Given the description of an element on the screen output the (x, y) to click on. 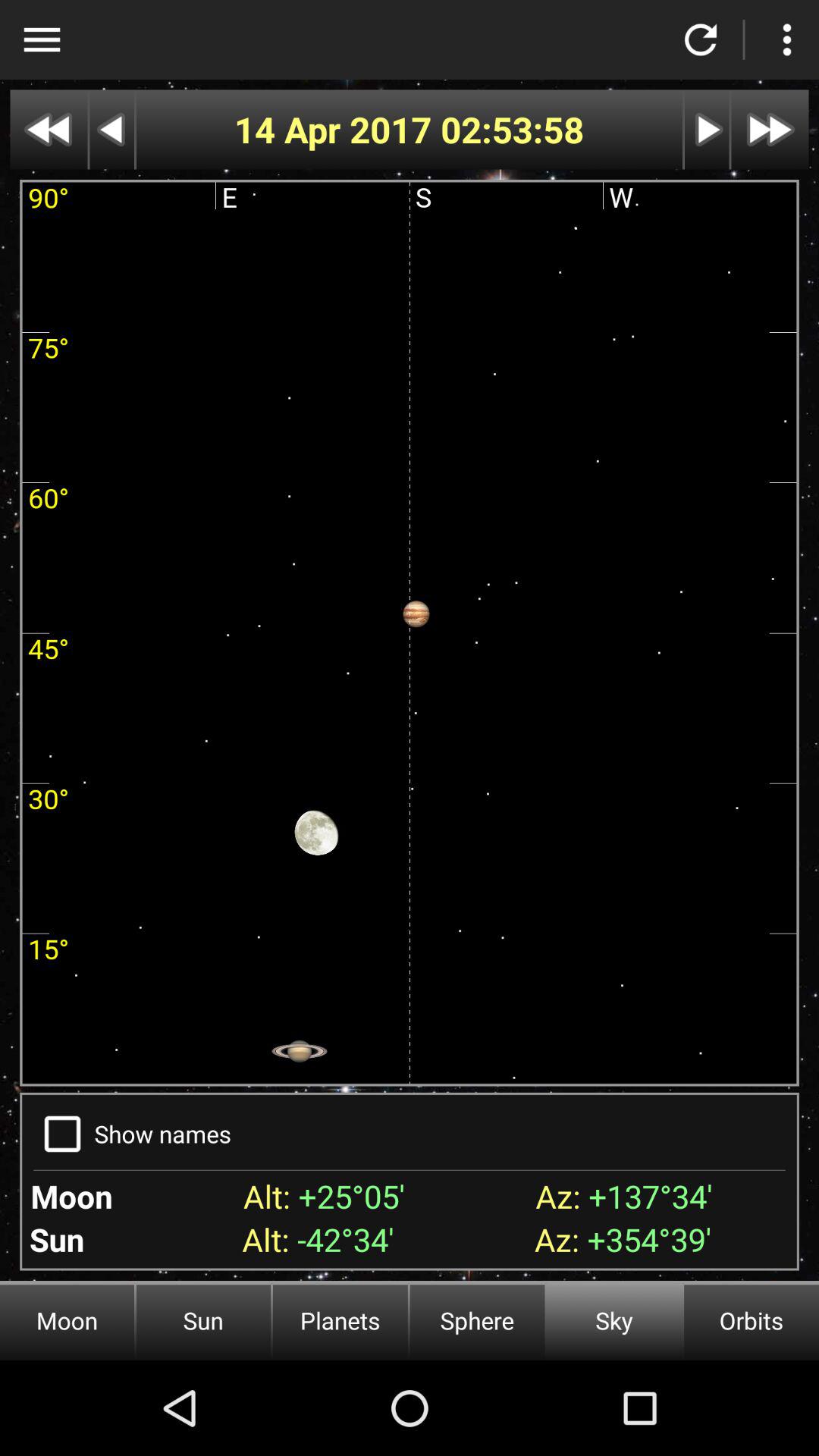
toggle a more option (41, 39)
